Given the description of an element on the screen output the (x, y) to click on. 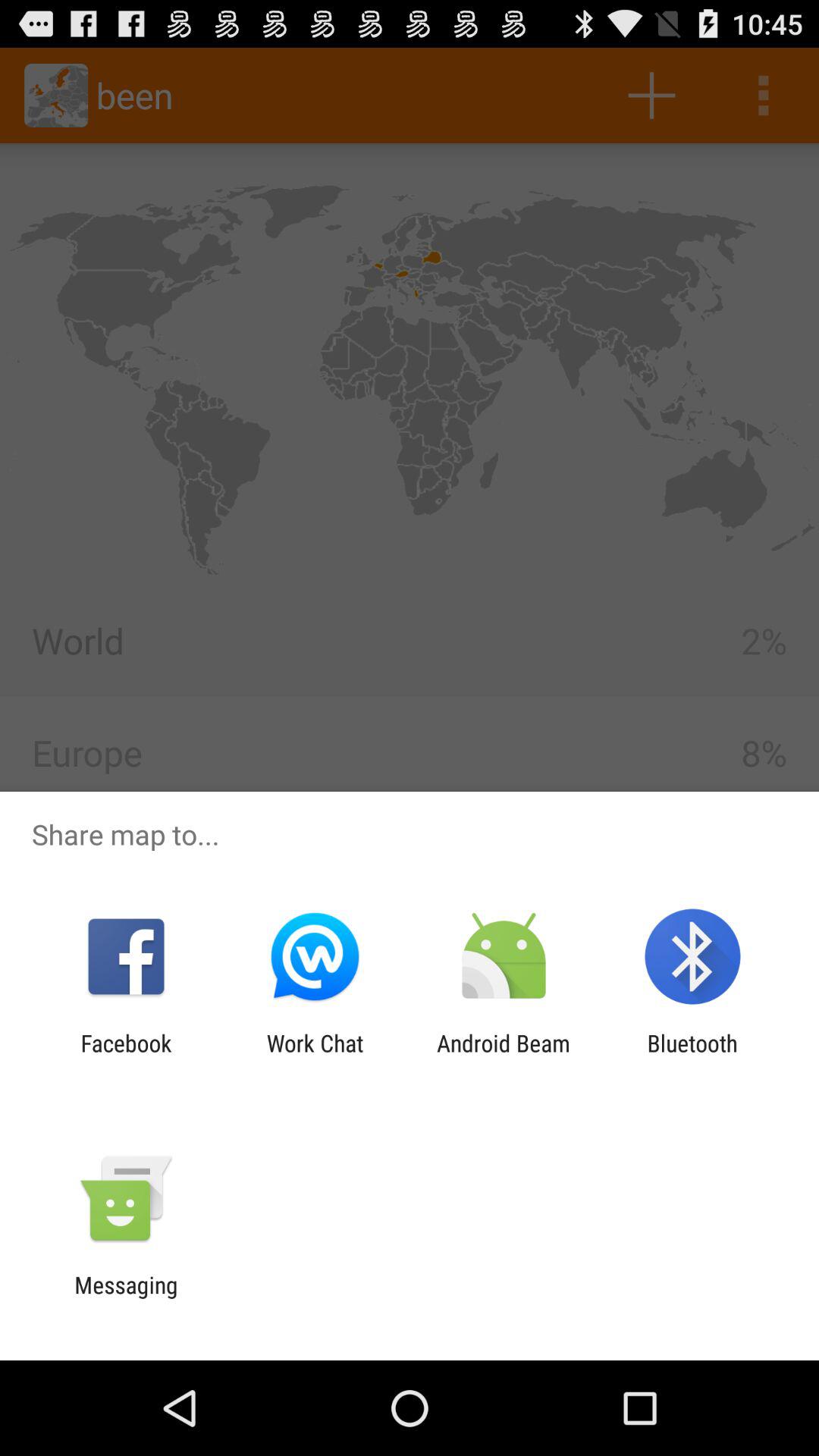
jump until the facebook icon (125, 1056)
